Given the description of an element on the screen output the (x, y) to click on. 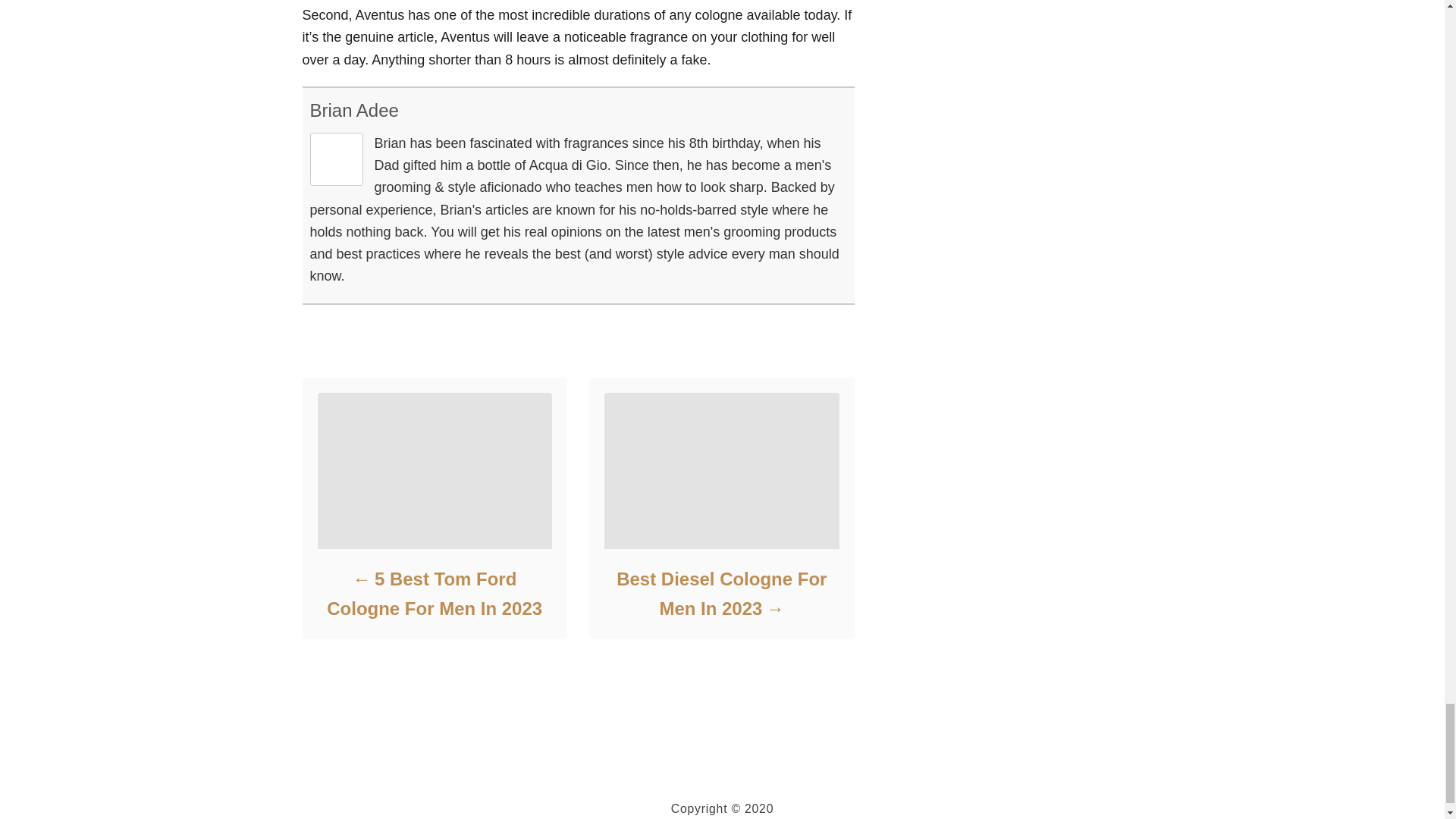
5 Best Tom Ford Cologne For Men In 2023 (434, 593)
Best Diesel Cologne For Men In 2023 (721, 593)
All posts by Brian Adee (352, 109)
Brian Adee (352, 109)
